Given the description of an element on the screen output the (x, y) to click on. 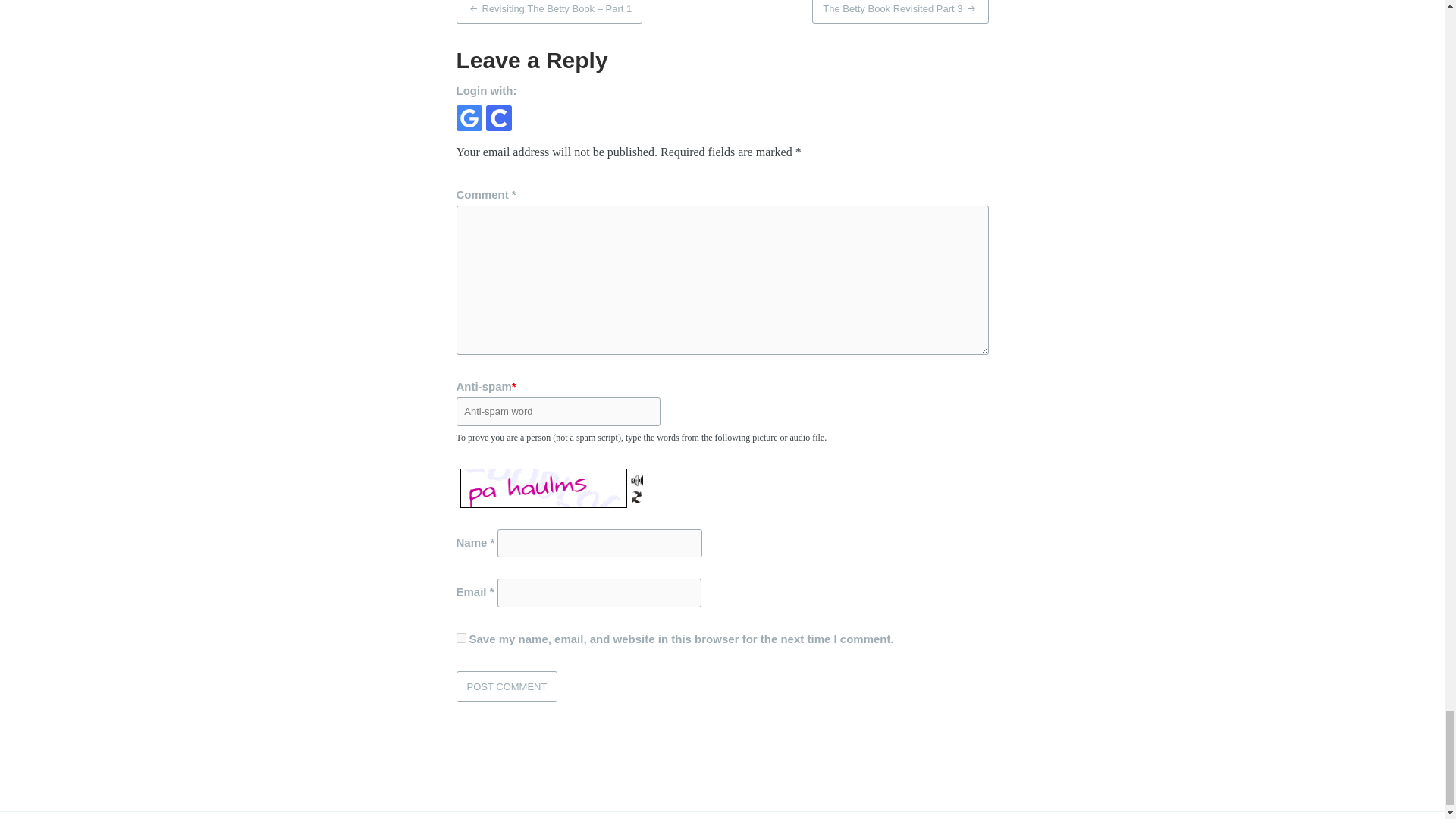
Continue with Google (469, 118)
The Betty Book Revisited Part 3 (900, 12)
yes (461, 637)
Post Comment (507, 685)
Listen (636, 478)
Continue with Clever (497, 118)
Post Comment (507, 685)
Load new (636, 494)
